Given the description of an element on the screen output the (x, y) to click on. 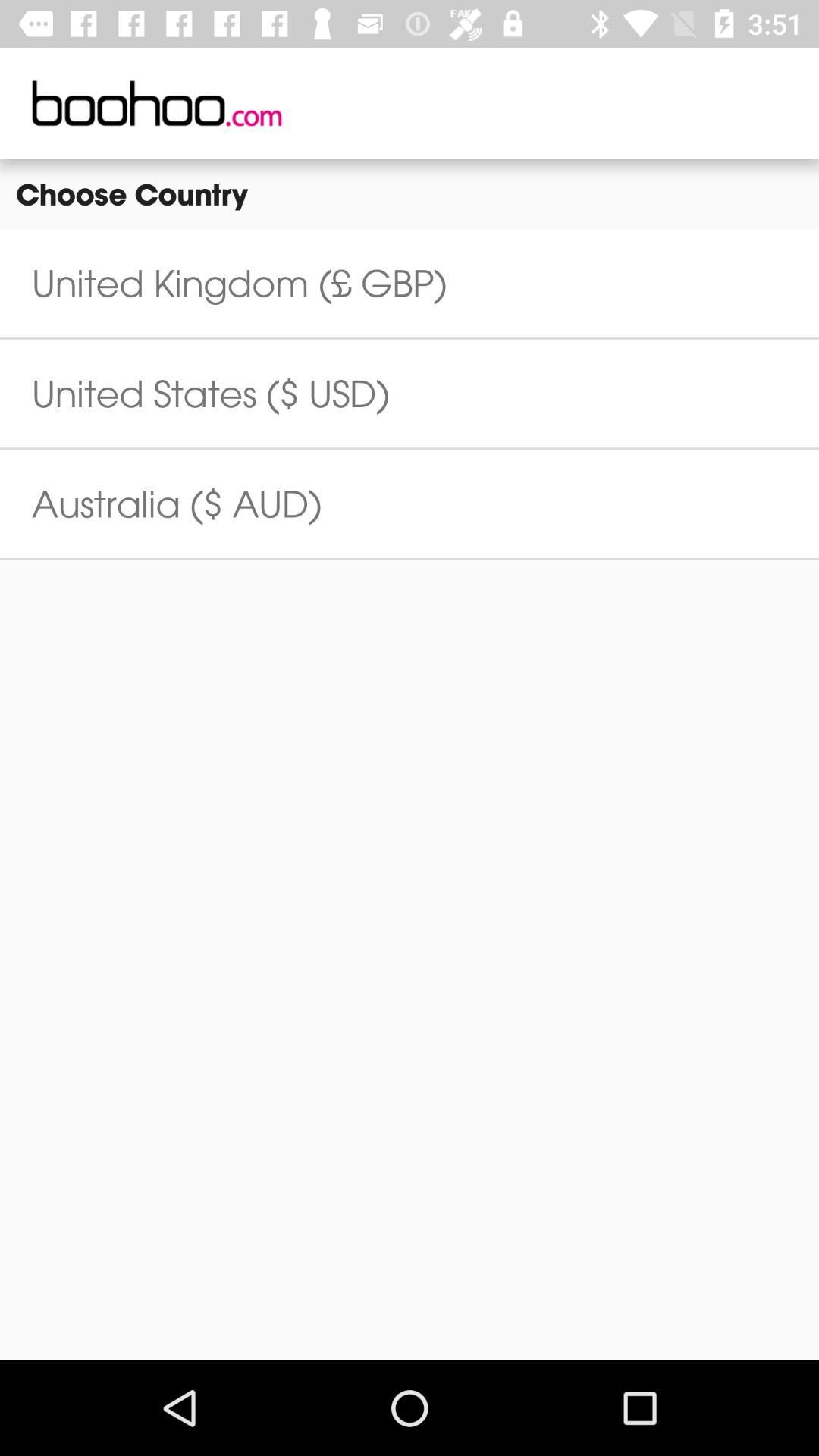
launch the icon above the united states ($ usd) icon (239, 283)
